Given the description of an element on the screen output the (x, y) to click on. 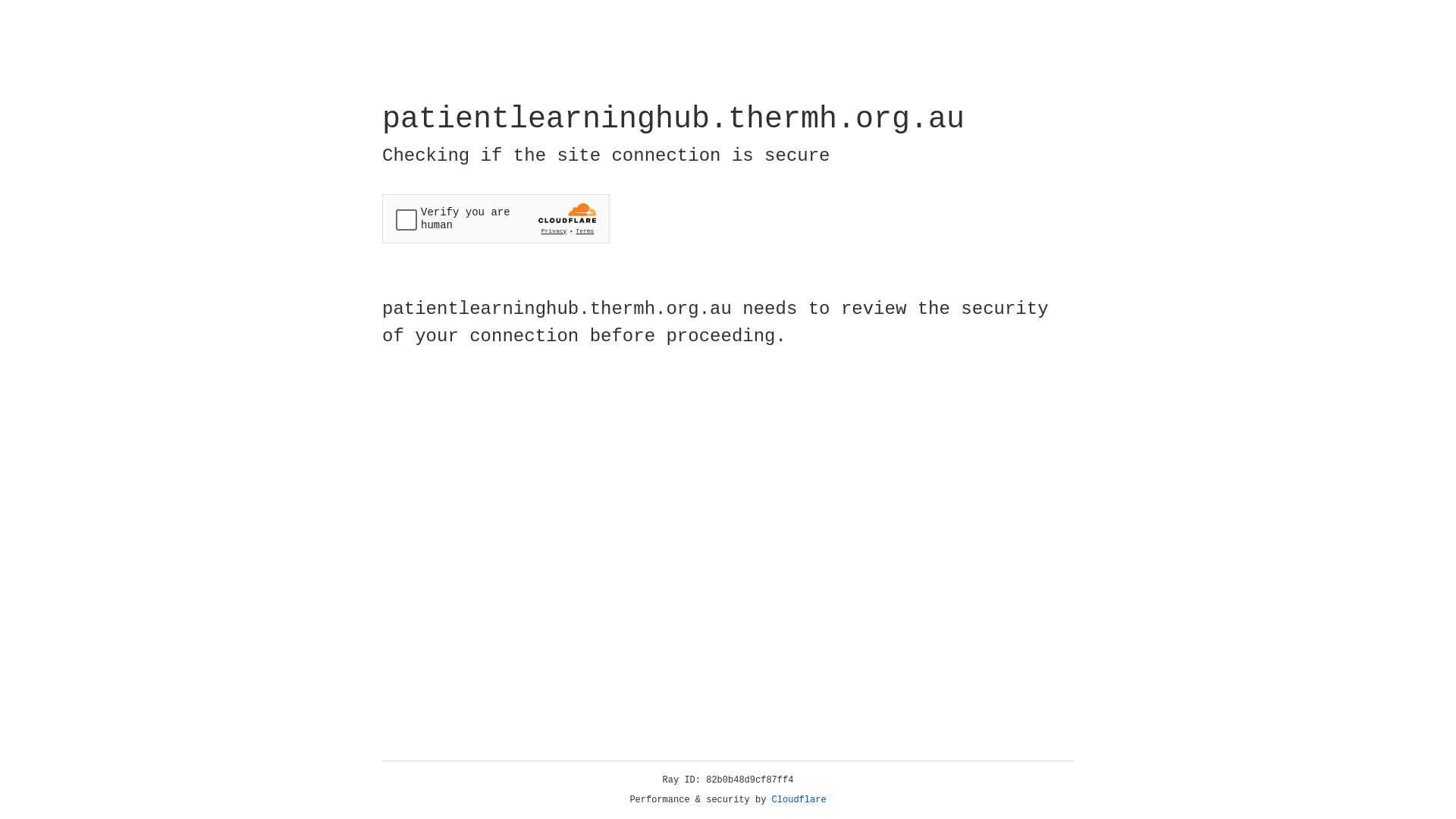
Widget containing a Cloudflare security challenge Element type: hover (495, 218)
Cloudflare Element type: text (798, 799)
